Given the description of an element on the screen output the (x, y) to click on. 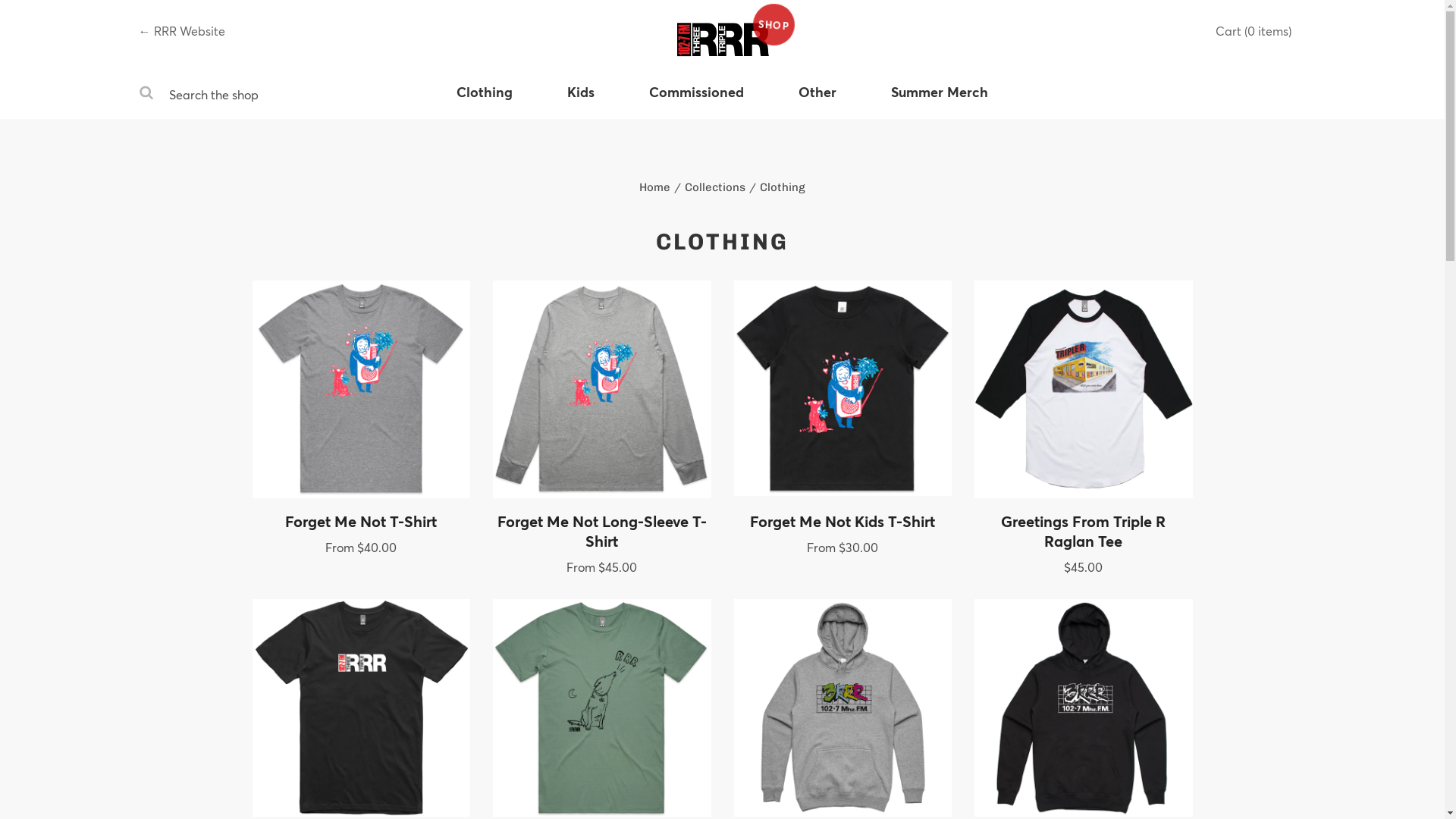
Greetings From Triple R Raglan Tee Element type: text (1083, 534)
Other Element type: text (817, 100)
Kids Element type: text (580, 100)
Clothing Element type: text (484, 100)
Forget Me Not T-Shirt Element type: text (360, 525)
Cart (0 items) Element type: text (1252, 30)
Commissioned Element type: text (696, 100)
Forget Me Not Kids T-Shirt Element type: text (843, 525)
Search the shop Element type: text (145, 94)
Collections Element type: text (714, 187)
Home Element type: text (654, 187)
Summer Merch Element type: text (939, 100)
Forget Me Not Long-Sleeve T-Shirt Element type: text (601, 534)
